Given the description of an element on the screen output the (x, y) to click on. 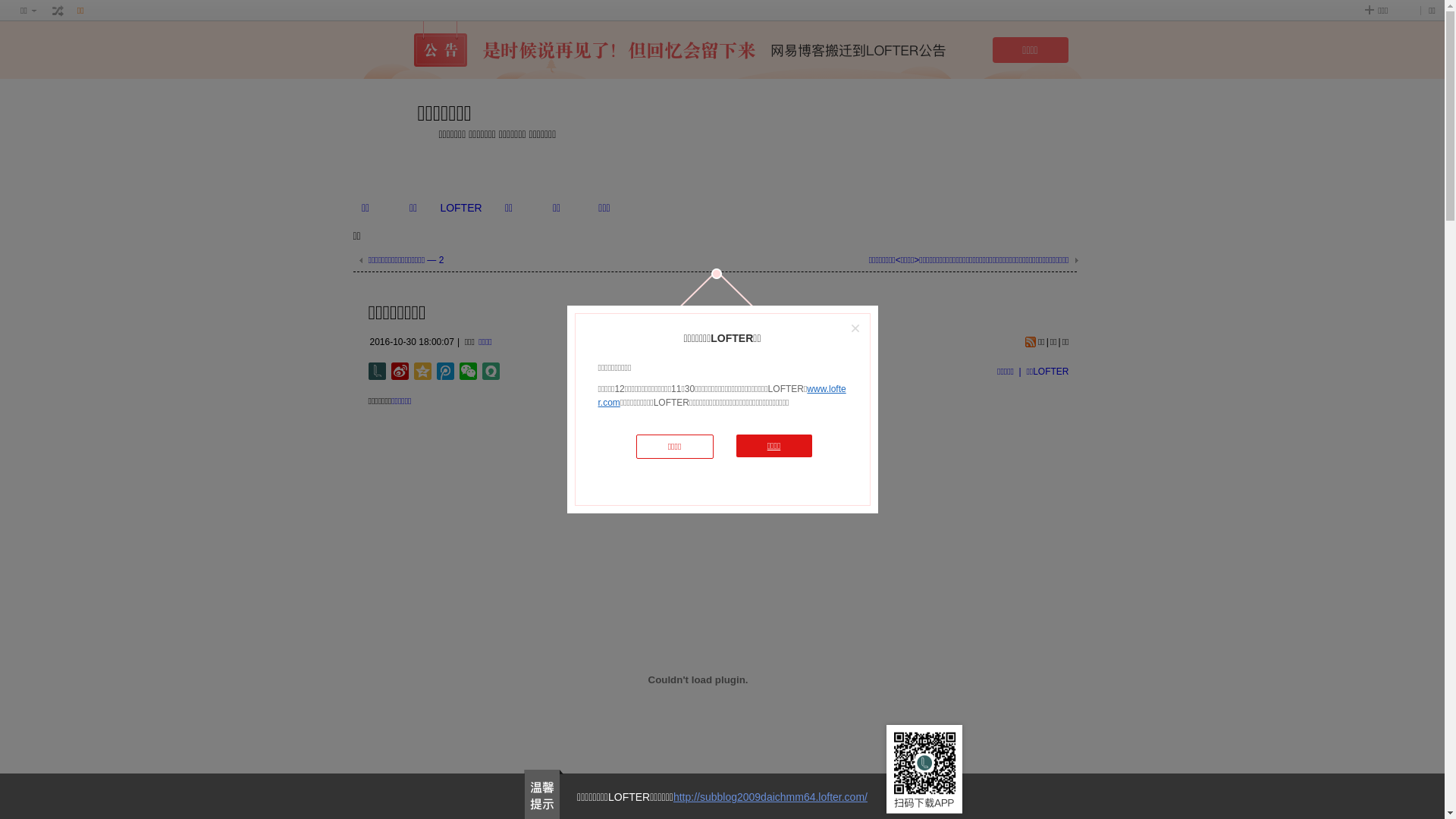
www.lofter.com Element type: text (721, 395)
LOFTER Element type: text (460, 207)
http://subblog2009daichmm64.lofter.com/ Element type: text (770, 796)
  Element type: text (58, 10)
